Given the description of an element on the screen output the (x, y) to click on. 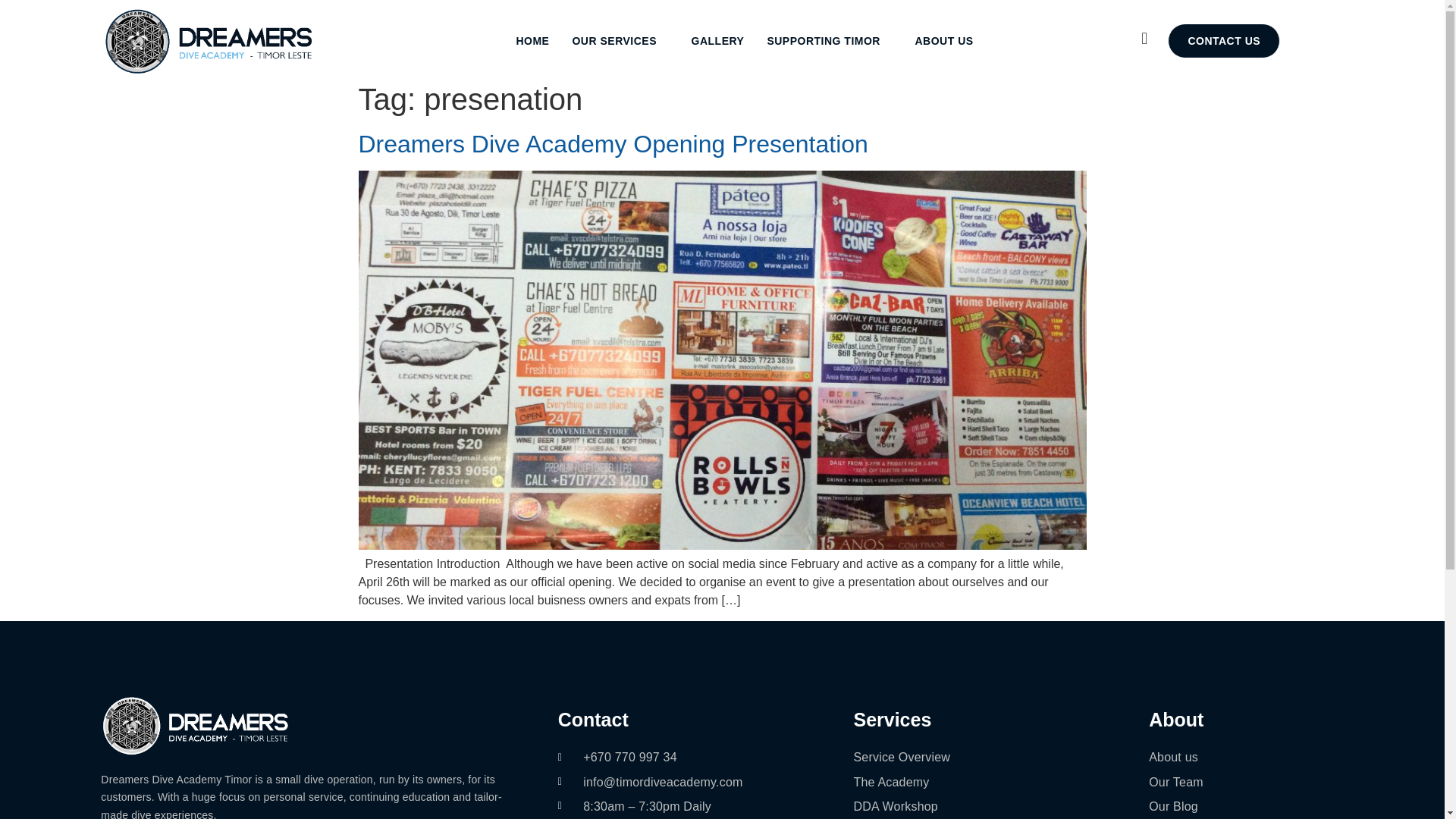
GALLERY (717, 40)
CONTACT US (1223, 40)
HOME (531, 40)
SUPPORTING TIMOR (828, 40)
OUR SERVICES (619, 40)
ABOUT US (950, 40)
